Given the description of an element on the screen output the (x, y) to click on. 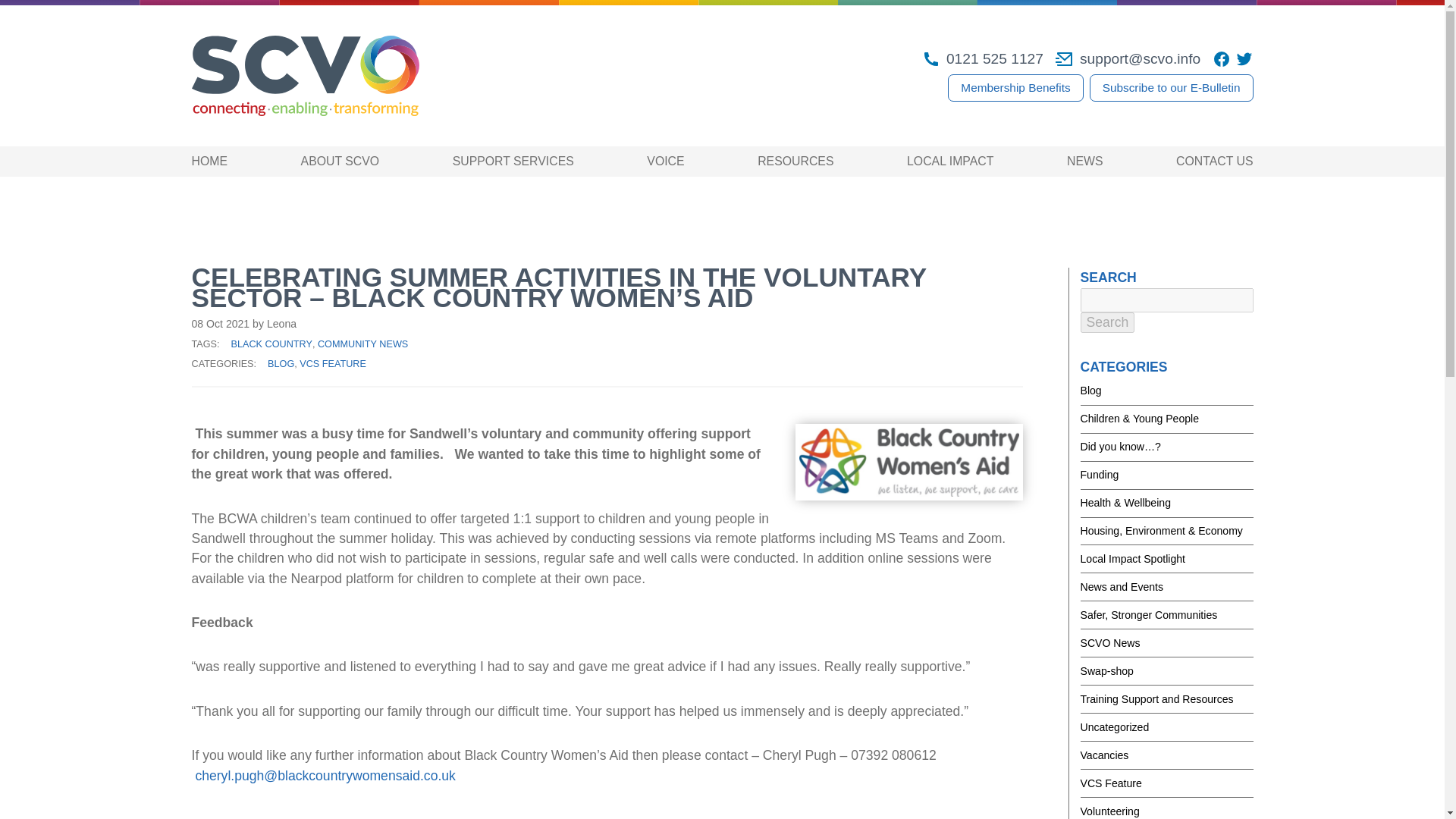
0121 525 1127 (982, 58)
SUPPORT SERVICES (512, 160)
Search (1107, 322)
ABOUT SCVO (340, 160)
VOICE (665, 160)
